Given the description of an element on the screen output the (x, y) to click on. 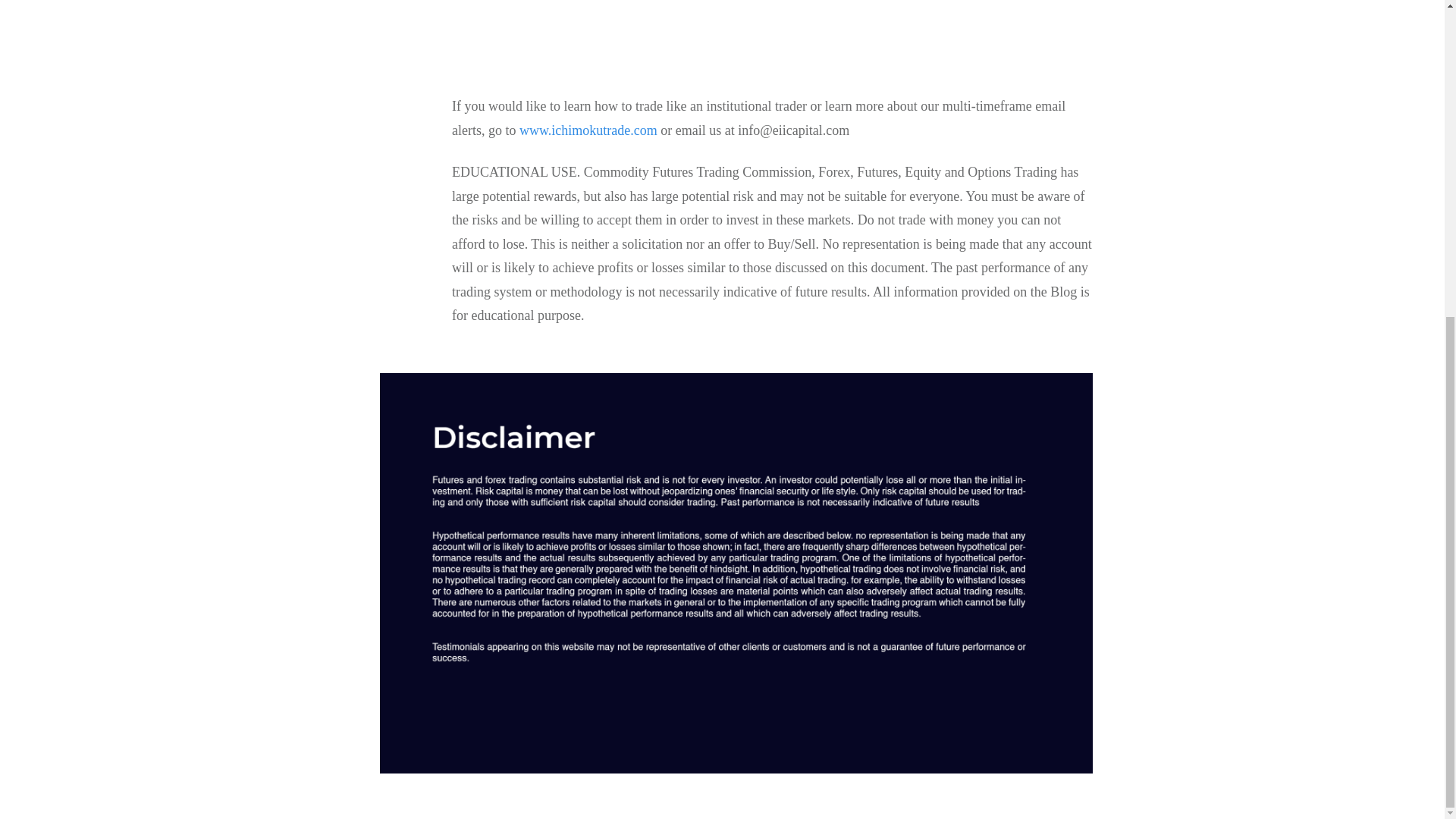
www.ichimokutrade.com (588, 129)
